Given the description of an element on the screen output the (x, y) to click on. 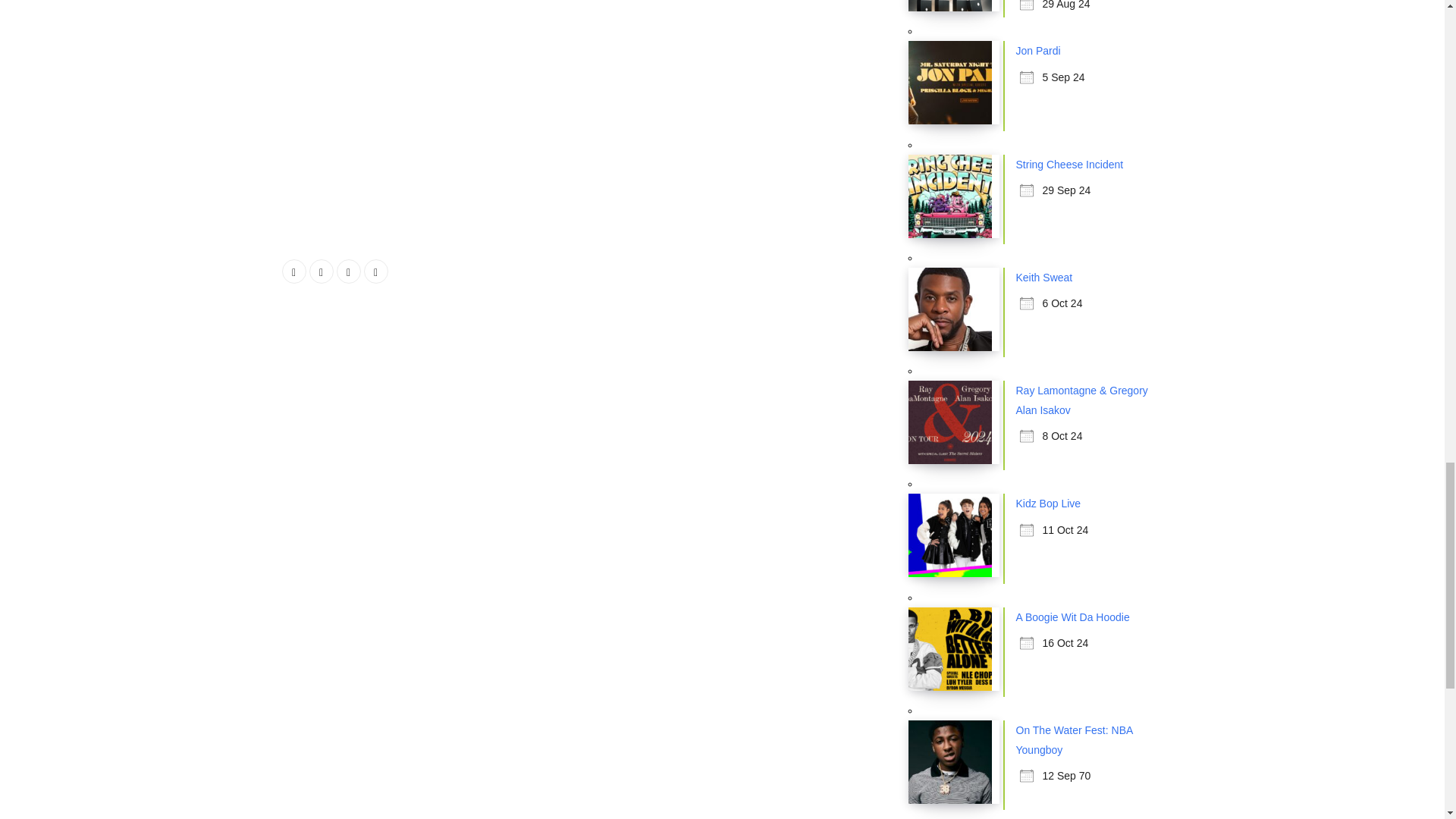
Kidz Bop Live (1048, 503)
A Boogie Wit Da Hoodie (1072, 616)
String Cheese Incident (1070, 164)
On The Water Fest: NBA Youngboy (1074, 739)
Jon Pardi (1038, 50)
Pinterest (376, 271)
Facebook (293, 271)
Keith Sweat (1044, 277)
Twitter (320, 271)
all events (943, 818)
LinkedIn (348, 271)
